Given the description of an element on the screen output the (x, y) to click on. 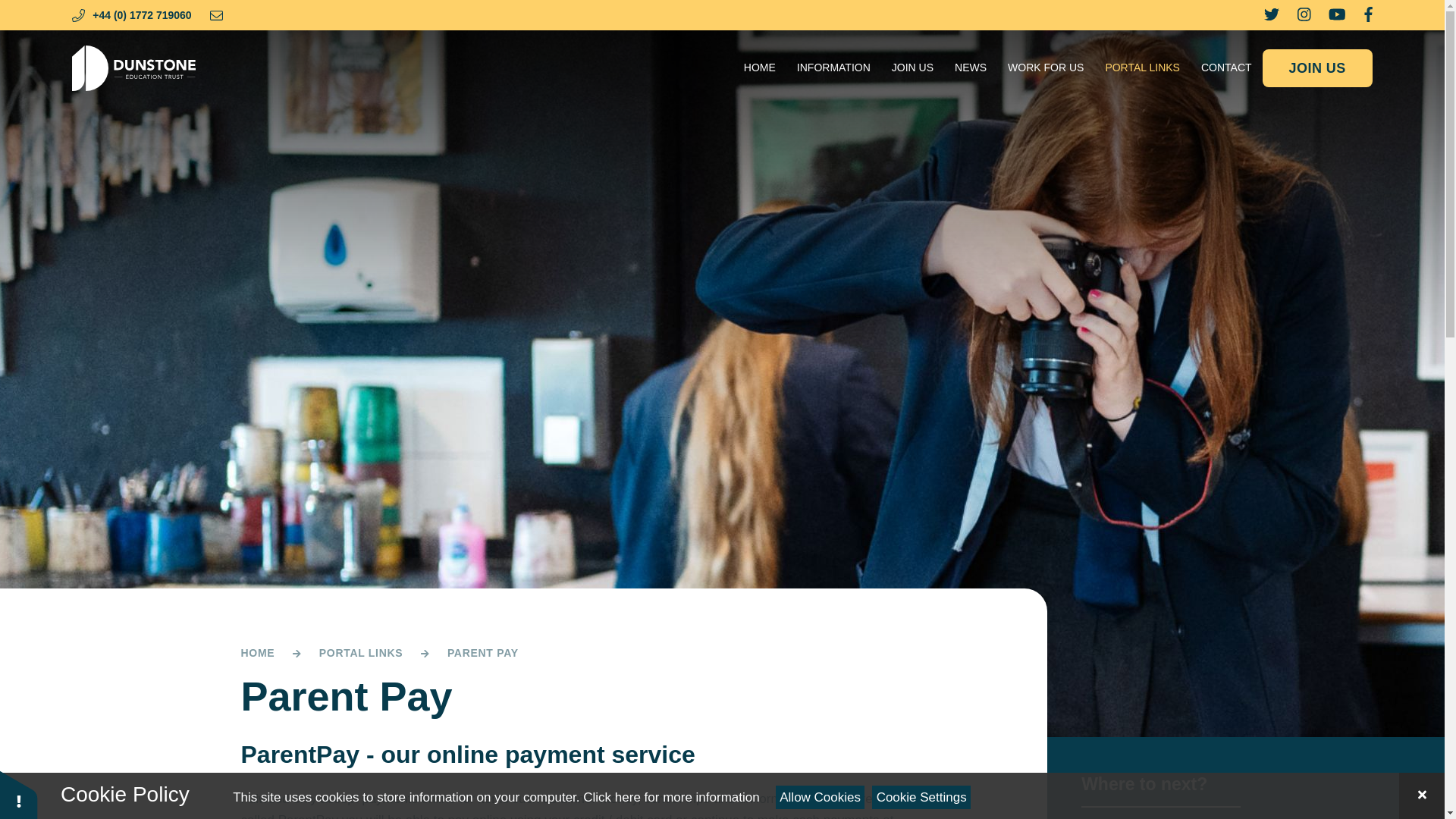
HOME (759, 67)
JOIN US (911, 67)
JOIN US (1317, 67)
INFORMATION (833, 67)
